Given the description of an element on the screen output the (x, y) to click on. 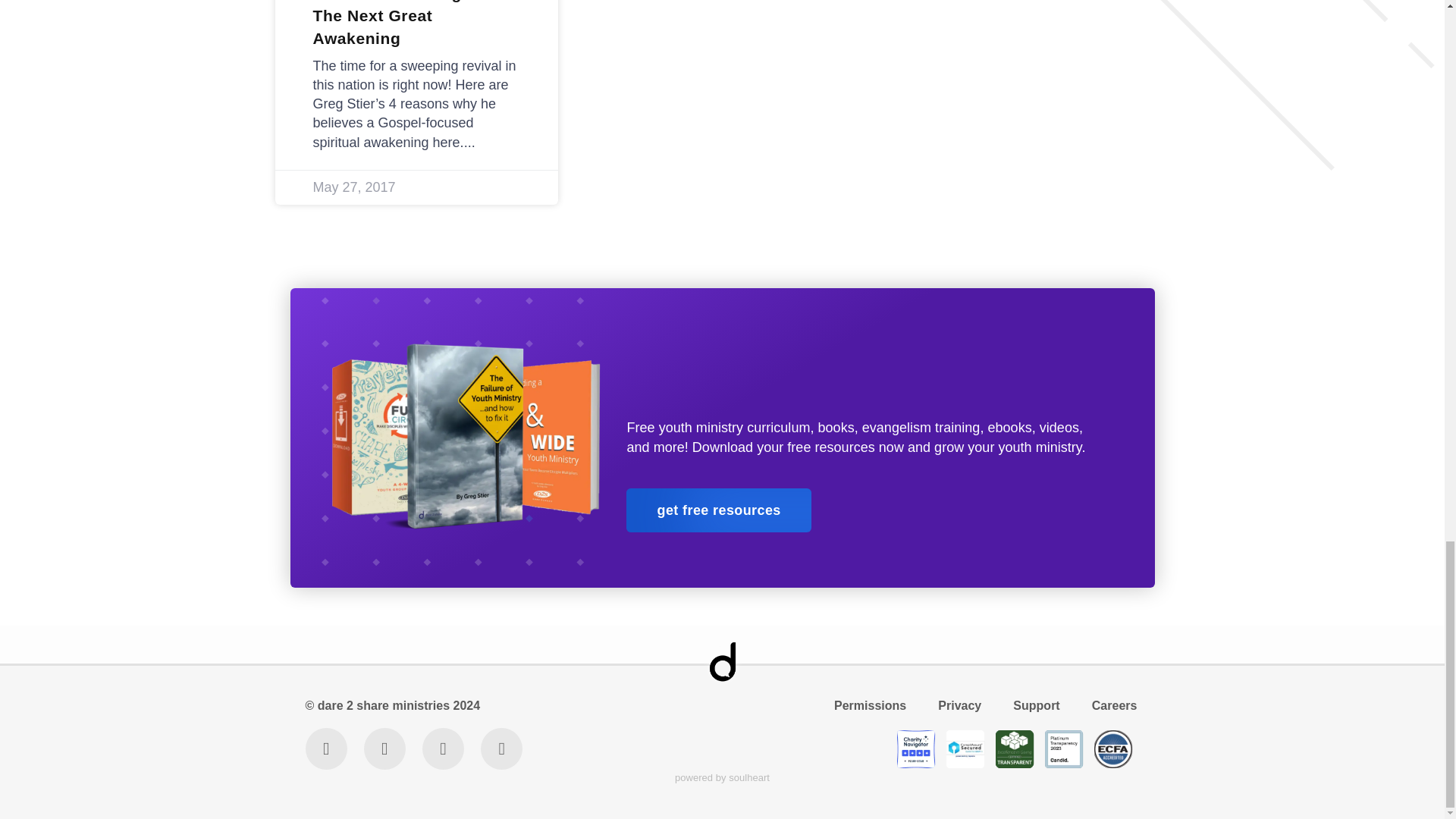
Facebook-f (443, 748)
Instagram (385, 748)
Permissions (870, 705)
Privacy (960, 705)
Twitter (325, 748)
get free resources (718, 510)
Support (1036, 705)
Youtube (501, 748)
Careers (1113, 705)
